Given the description of an element on the screen output the (x, y) to click on. 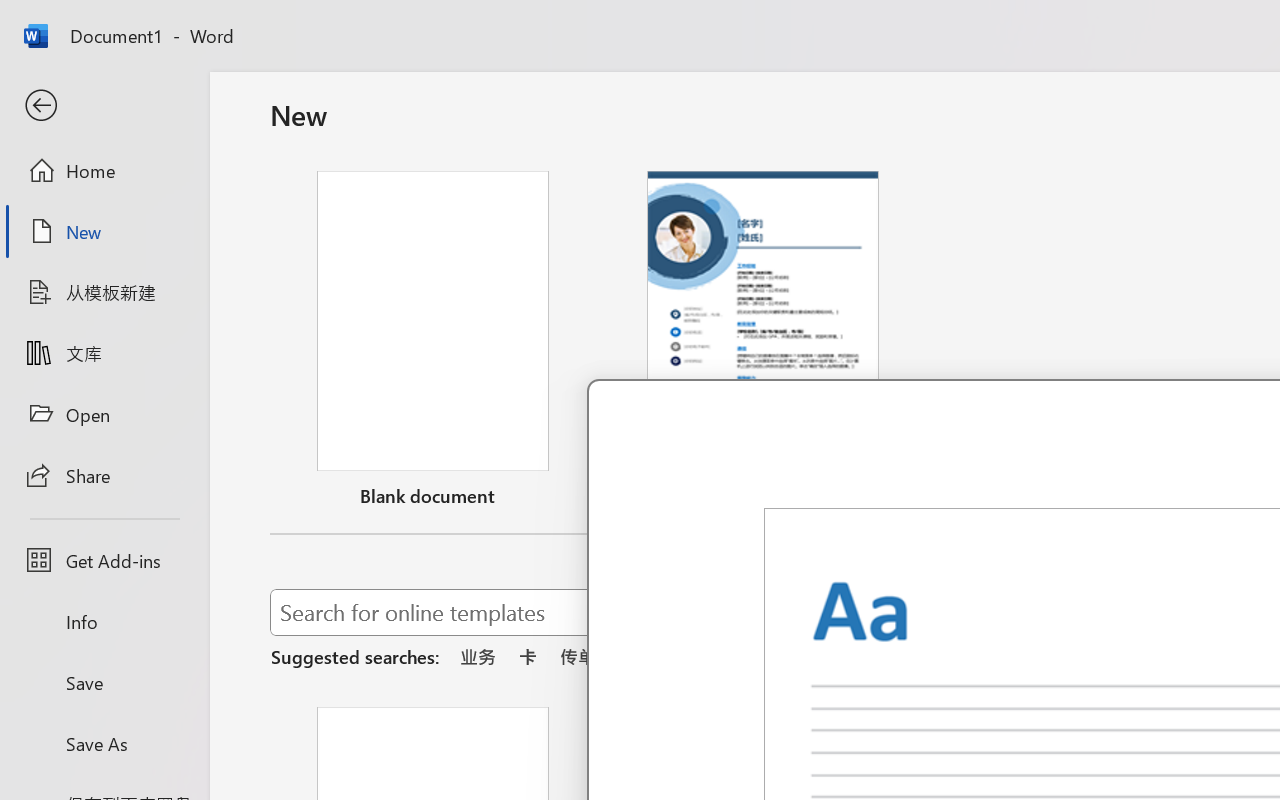
Save As (104, 743)
Blank document (433, 343)
Search for online templates (718, 615)
Get Add-ins (104, 560)
New (104, 231)
